Given the description of an element on the screen output the (x, y) to click on. 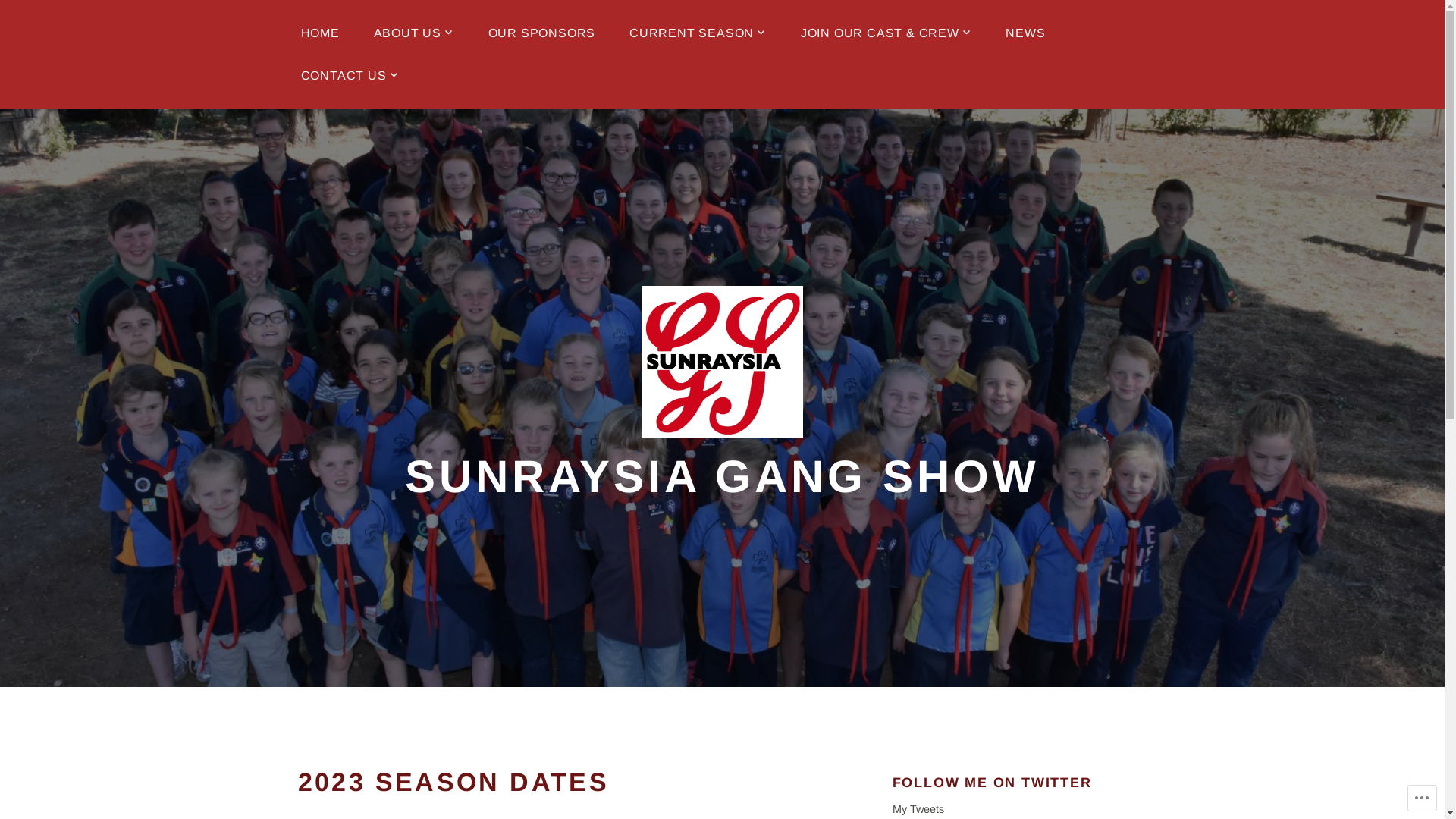
ABOUT US Element type: text (413, 33)
CONTACT US Element type: text (349, 75)
OUR SPONSORS Element type: text (542, 33)
HOME Element type: text (319, 33)
My Tweets Element type: text (917, 809)
NEWS Element type: text (1025, 33)
JOIN OUR CAST & CREW Element type: text (886, 33)
SUNRAYSIA GANG SHOW Element type: text (721, 475)
CURRENT SEASON Element type: text (697, 33)
